Given the description of an element on the screen output the (x, y) to click on. 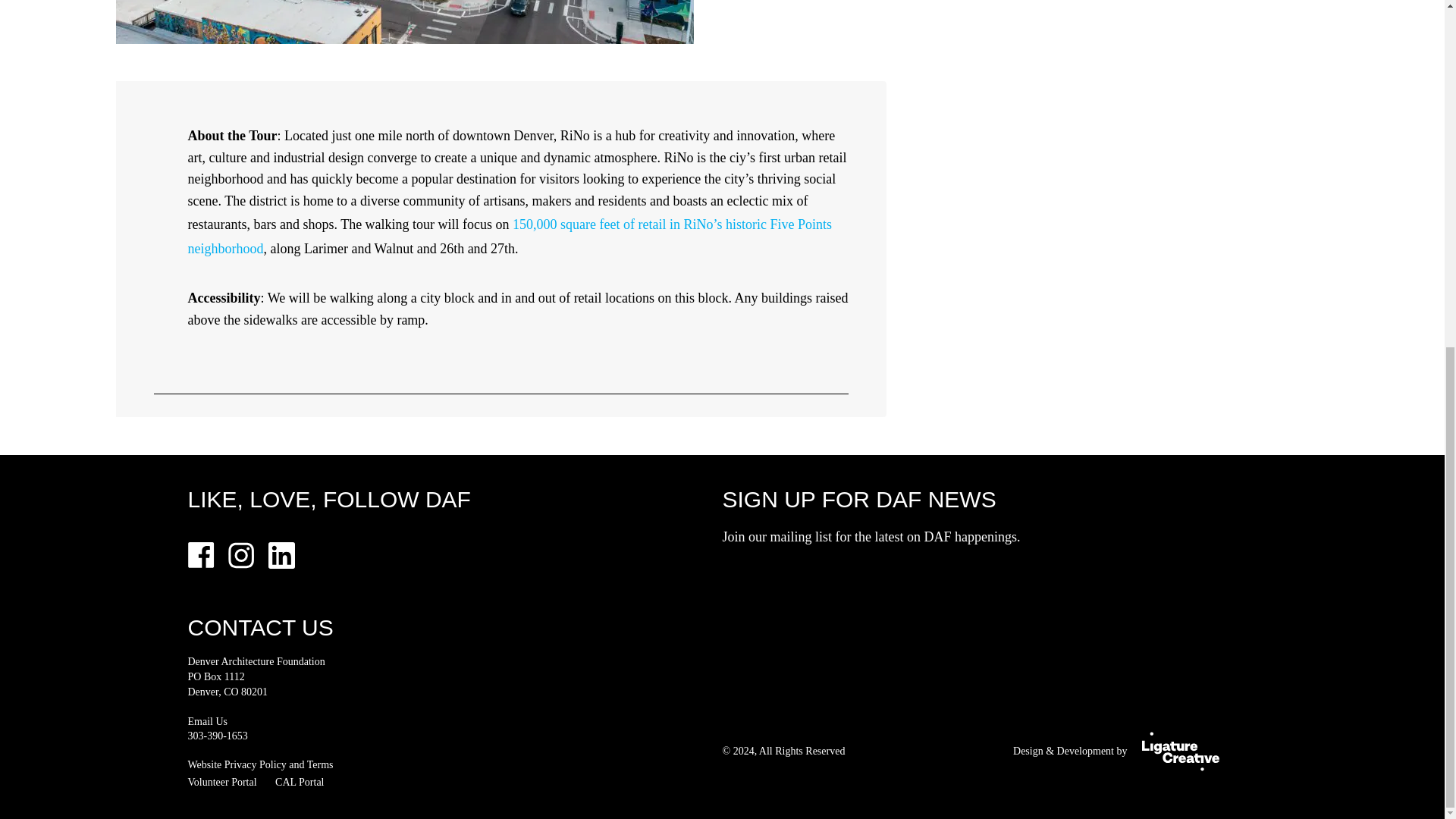
Email Us (207, 721)
303-390-1653 (217, 736)
